Given the description of an element on the screen output the (x, y) to click on. 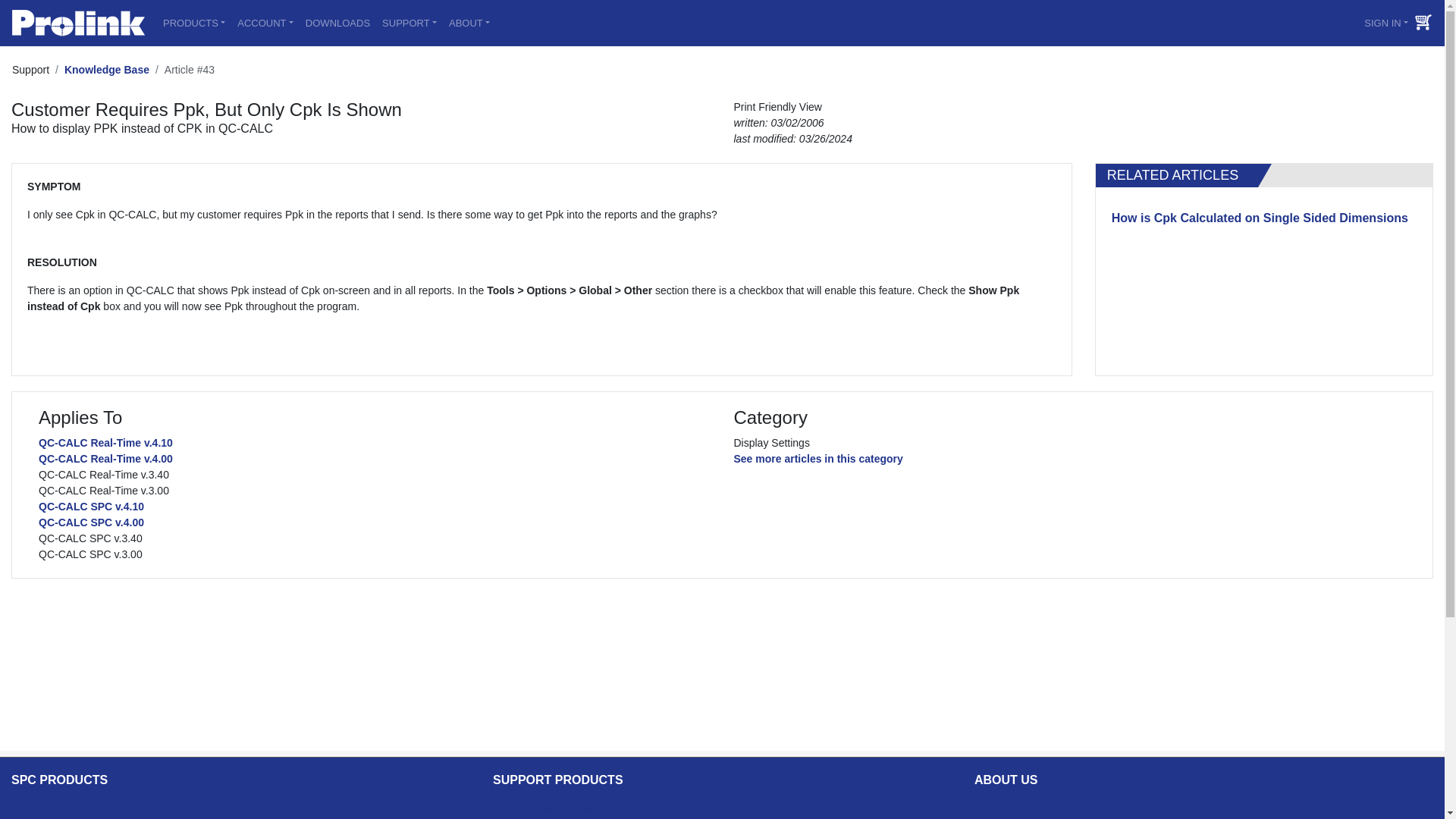
DOWNLOADS (337, 22)
SUPPORT (408, 22)
PRODUCTS (194, 22)
ACCOUNT (265, 22)
